Given the description of an element on the screen output the (x, y) to click on. 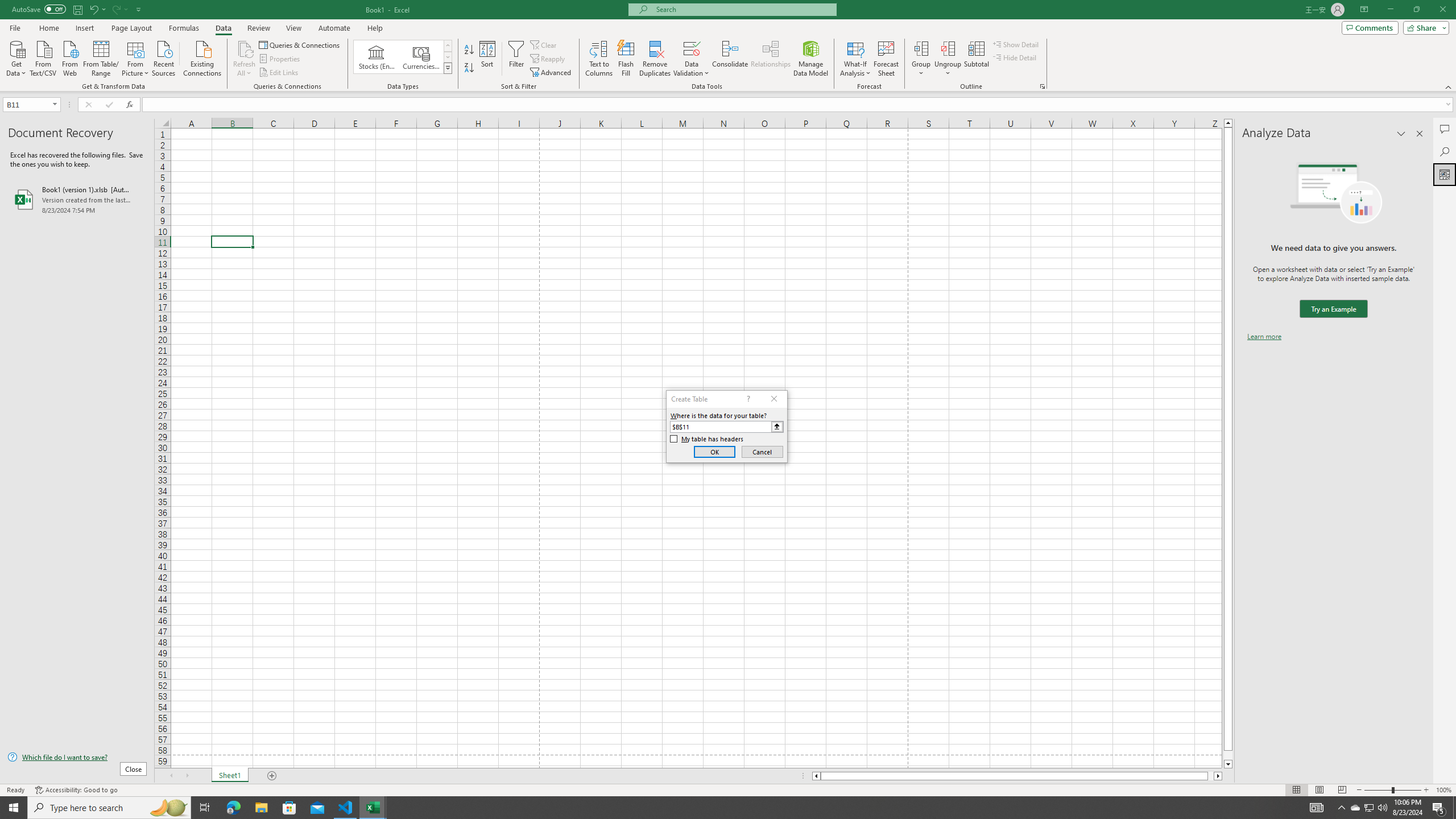
Currencies (English) (420, 56)
Queries & Connections (300, 44)
Get Data (16, 57)
Sort A to Z (469, 49)
